Given the description of an element on the screen output the (x, y) to click on. 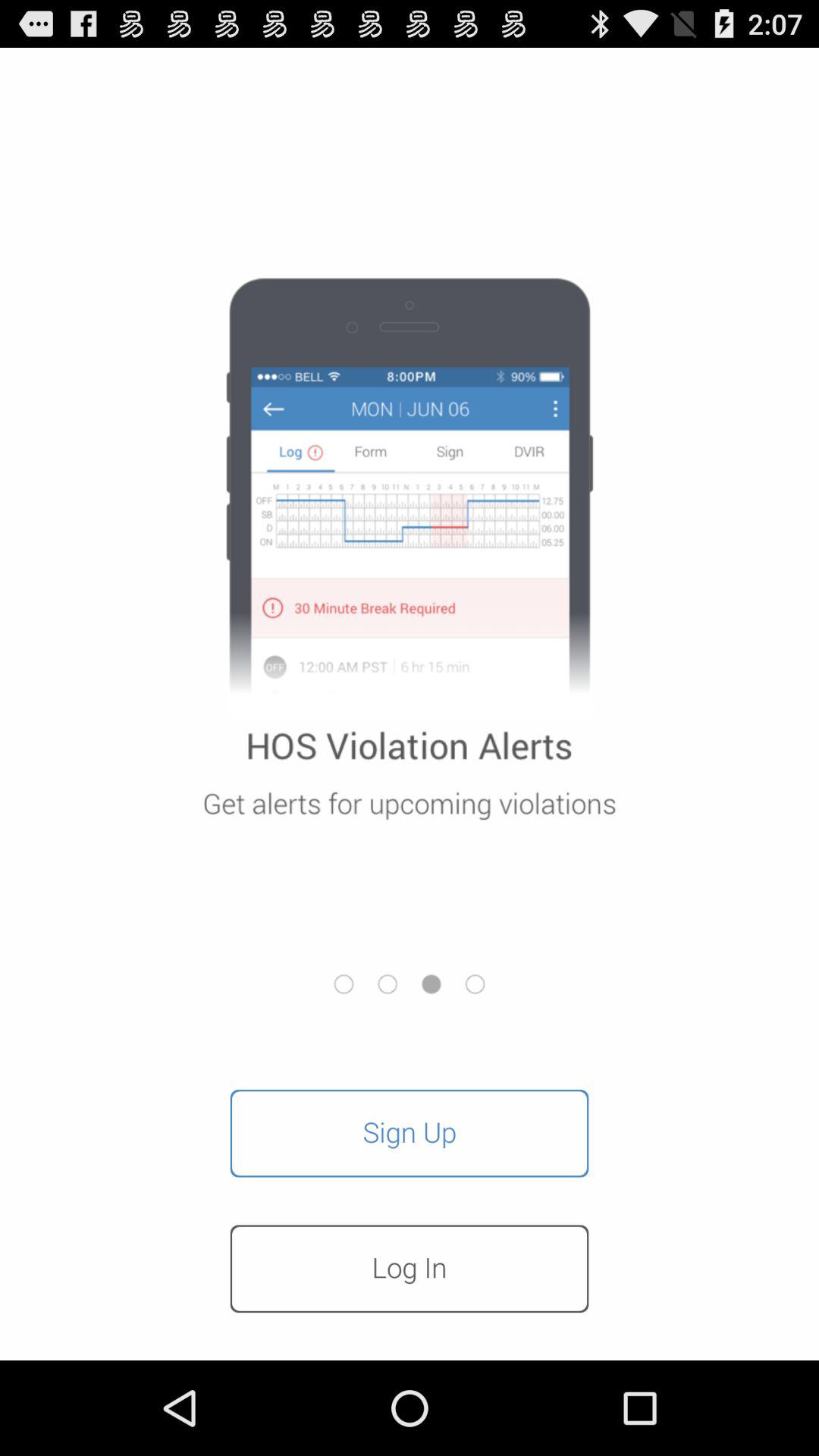
swipe until the sign up icon (409, 1133)
